Given the description of an element on the screen output the (x, y) to click on. 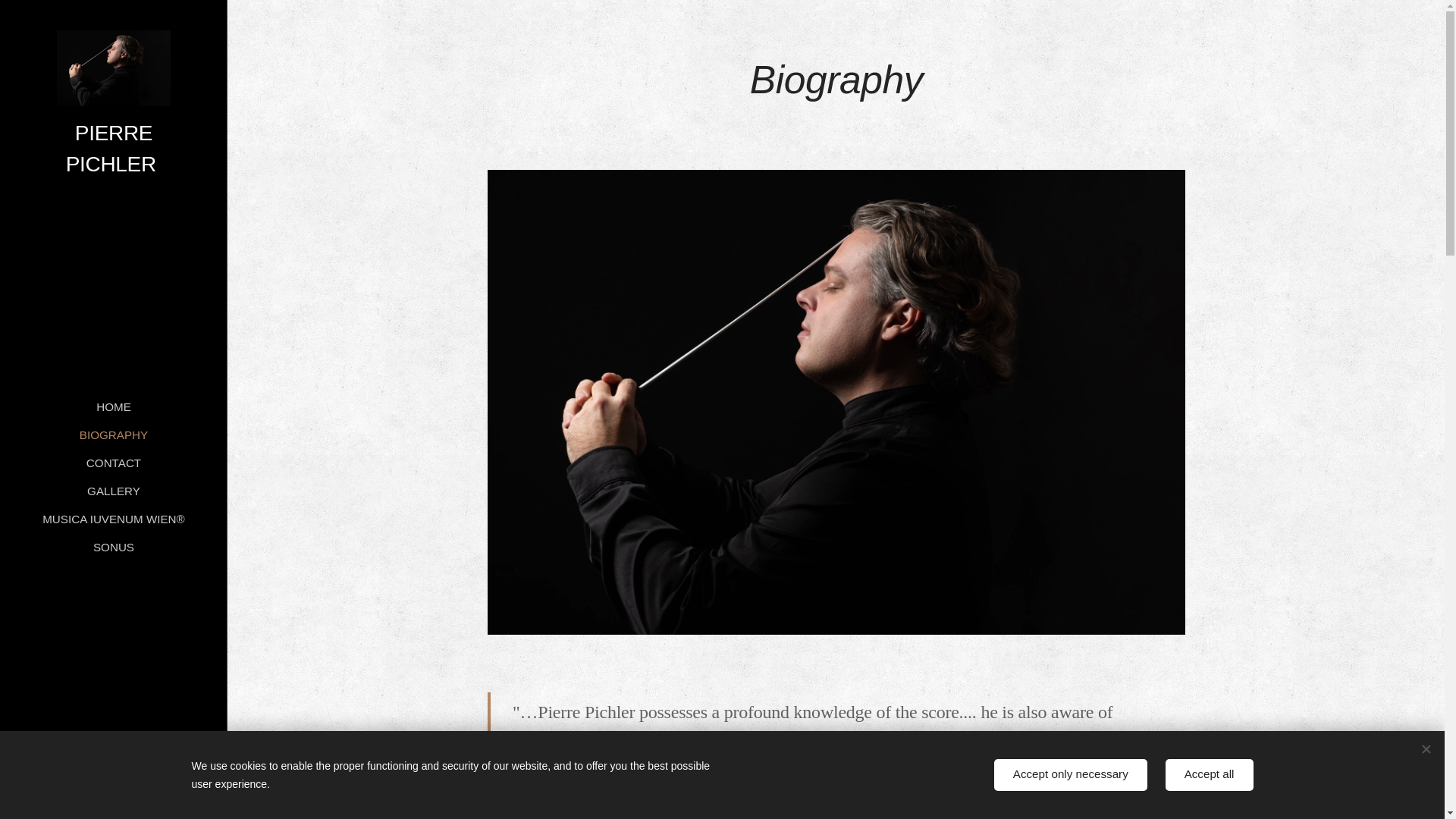
HOME (113, 406)
BIOGRAPHY (113, 434)
Accept all (1209, 774)
CONTACT (113, 462)
PIERRE PICHLER  (114, 104)
Deutsch (69, 781)
SONUS (113, 547)
GALLERY (113, 490)
Cookies (114, 798)
Accept only necessary (1070, 774)
